Given the description of an element on the screen output the (x, y) to click on. 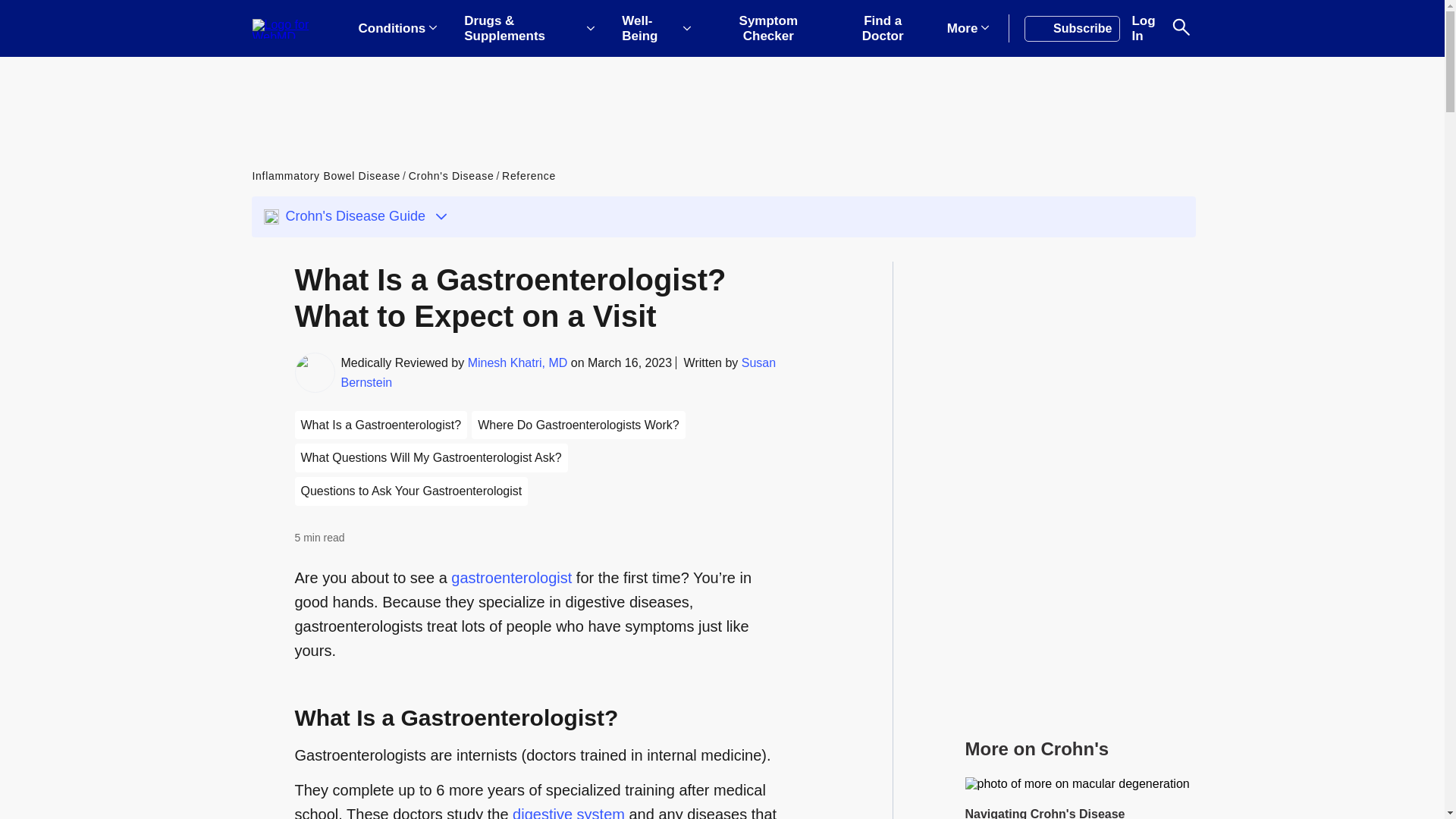
Conditions (397, 28)
